Given the description of an element on the screen output the (x, y) to click on. 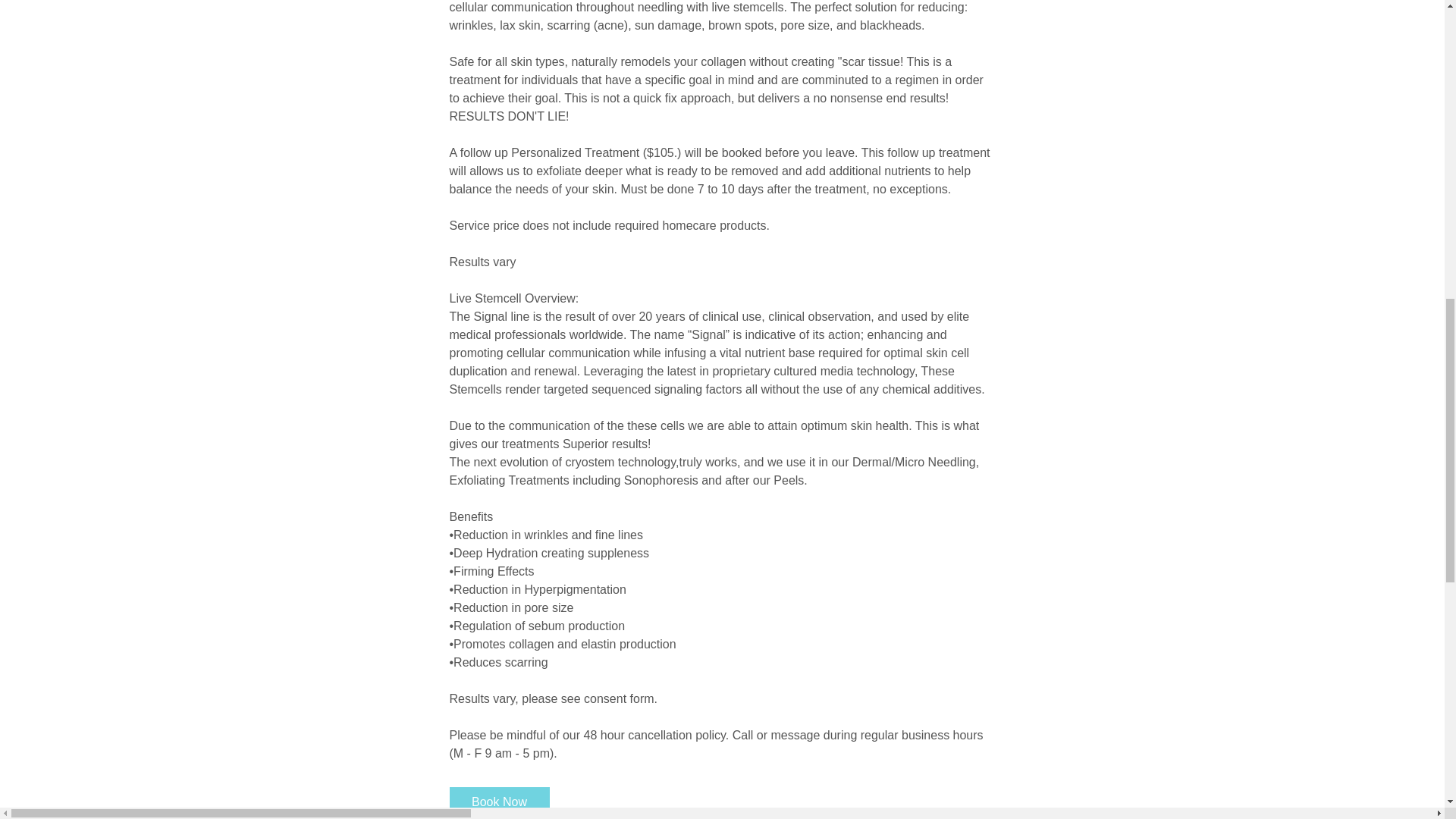
Book Now (498, 802)
